Given the description of an element on the screen output the (x, y) to click on. 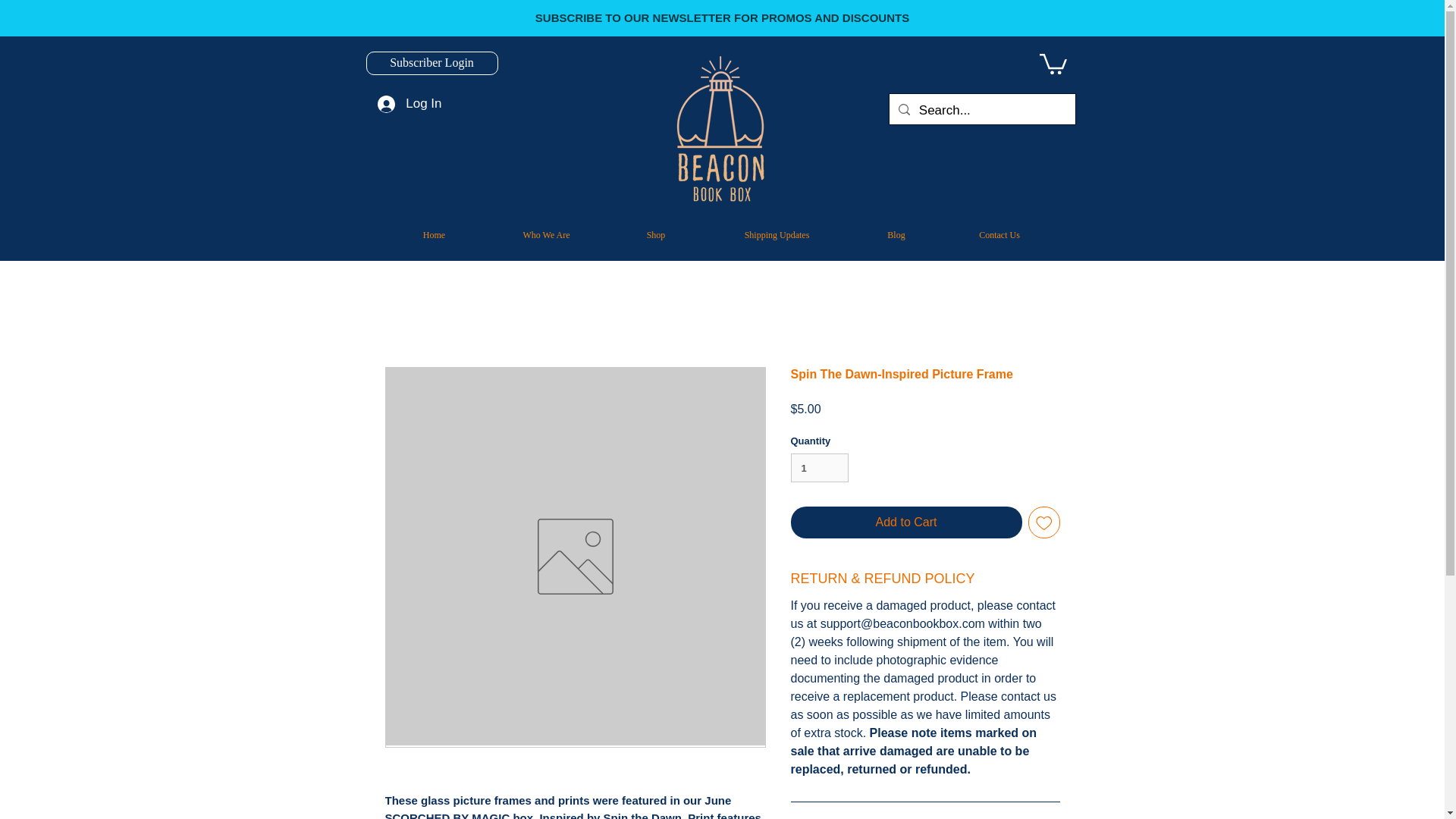
Add to Cart (906, 522)
1 (818, 467)
Contact Us (999, 235)
Log In (408, 103)
Home (433, 235)
Blog (895, 235)
Who We Are (545, 235)
Shipping Updates (776, 235)
Subscriber Login (431, 63)
Shop (655, 235)
